Given the description of an element on the screen output the (x, y) to click on. 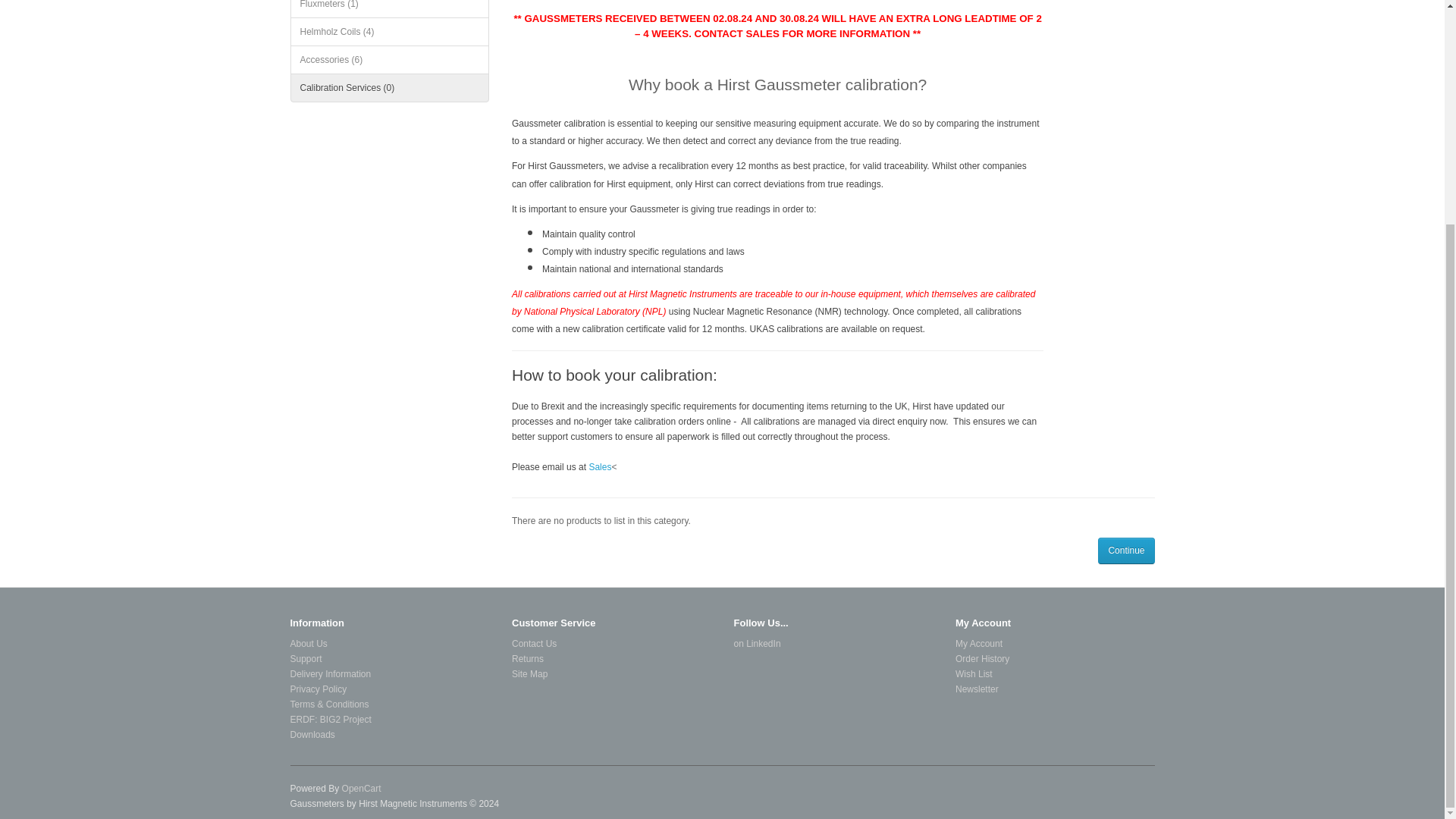
Privacy Policy (317, 688)
Support (305, 658)
ERDF: BIG2 Project (330, 719)
Continue (1125, 550)
Sales (599, 466)
Delivery Information (330, 674)
About Us (307, 643)
